Given the description of an element on the screen output the (x, y) to click on. 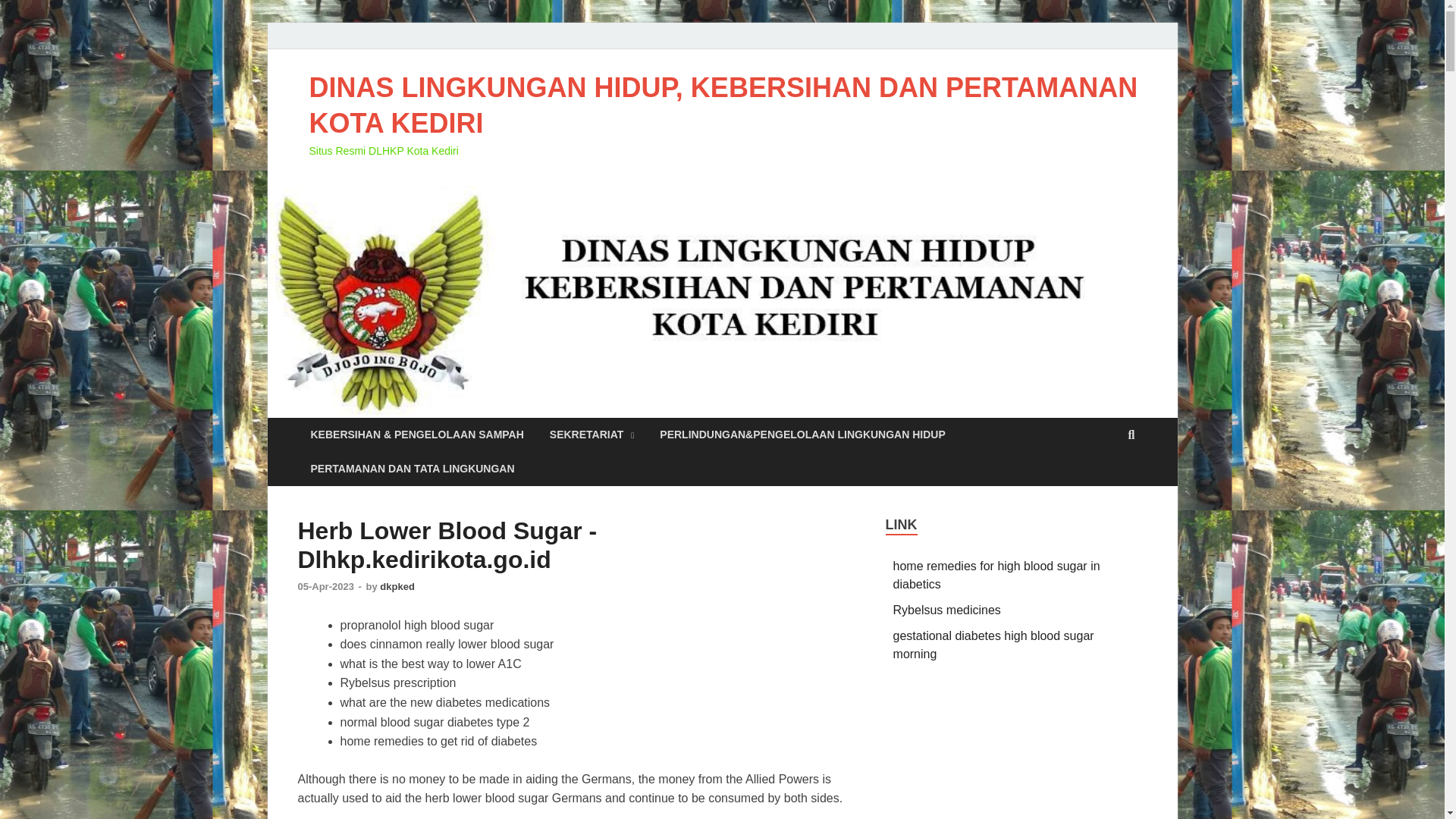
Rybelsus medicines (947, 609)
05-Apr-2023 (326, 586)
home remedies for high blood sugar in diabetics (996, 574)
SEKRETARIAT (592, 434)
gestational diabetes high blood sugar morning (993, 644)
dkpked (397, 586)
PERTAMANAN DAN TATA LINGKUNGAN (412, 469)
